Given the description of an element on the screen output the (x, y) to click on. 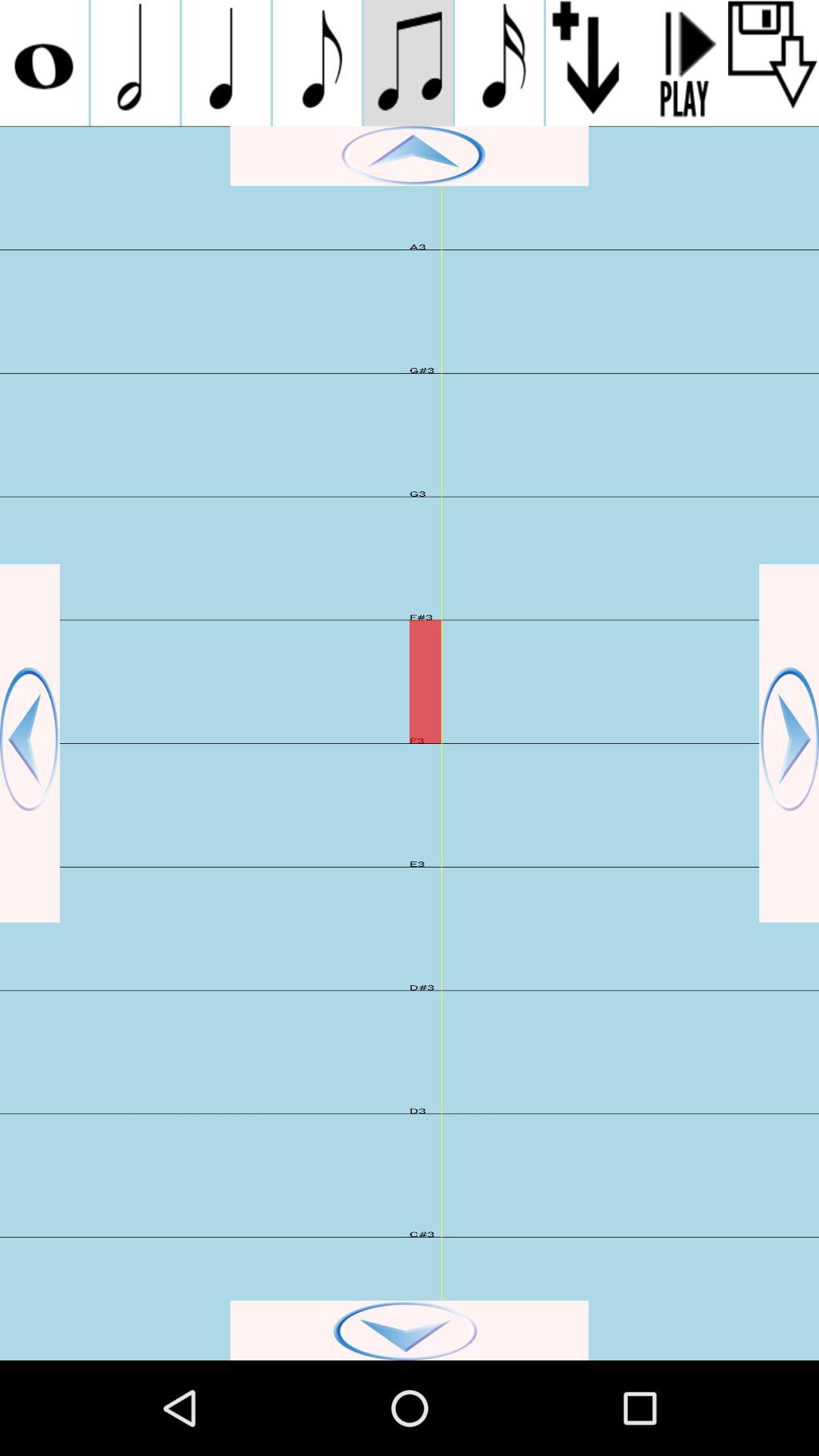
select the music rhythm (408, 63)
